Given the description of an element on the screen output the (x, y) to click on. 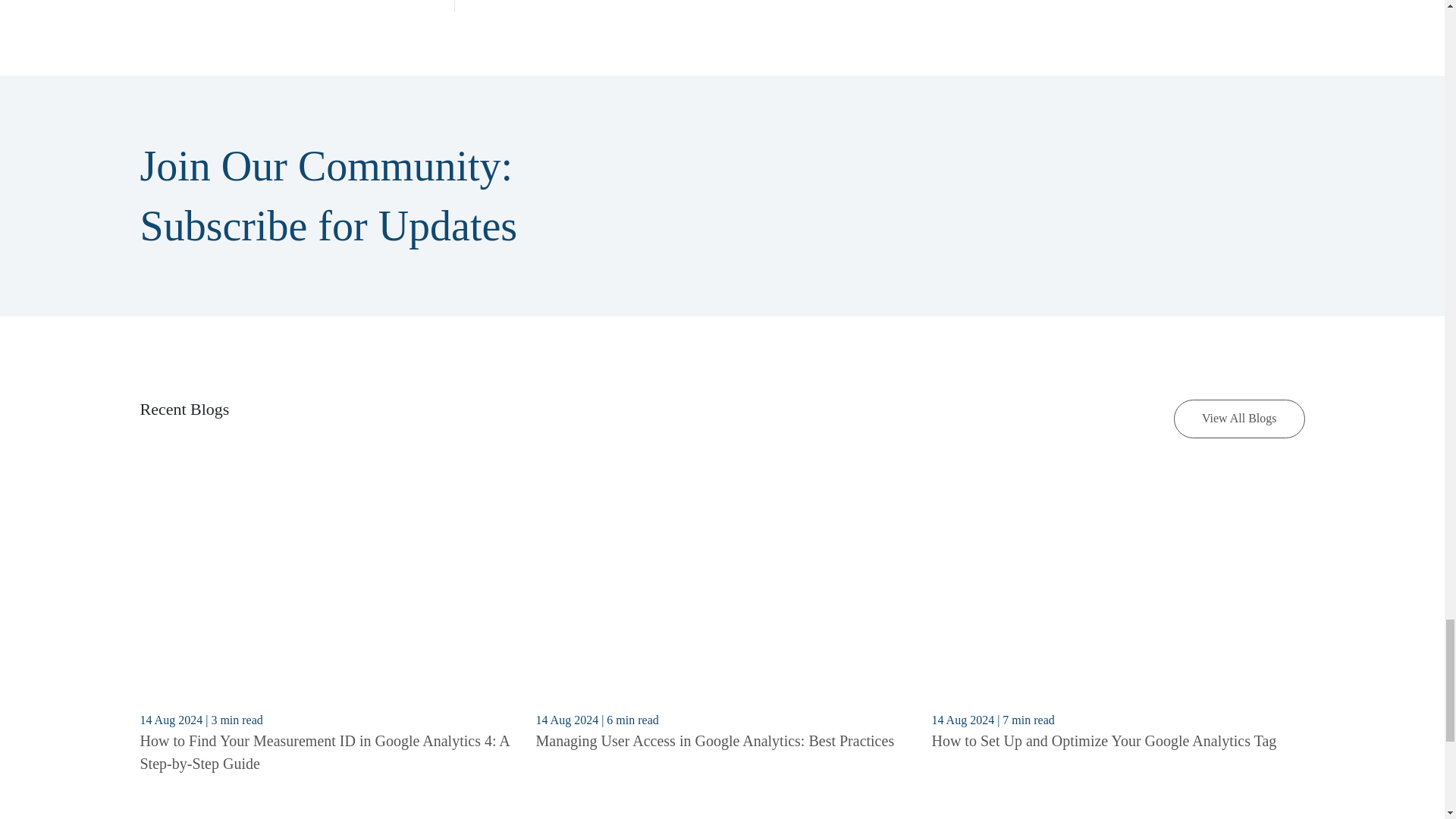
How to Set Up and Optimize Your Google Analytics Tag (1103, 740)
View All Blogs (1238, 418)
Managing User Access in Google Analytics: Best Practices (714, 740)
